Given the description of an element on the screen output the (x, y) to click on. 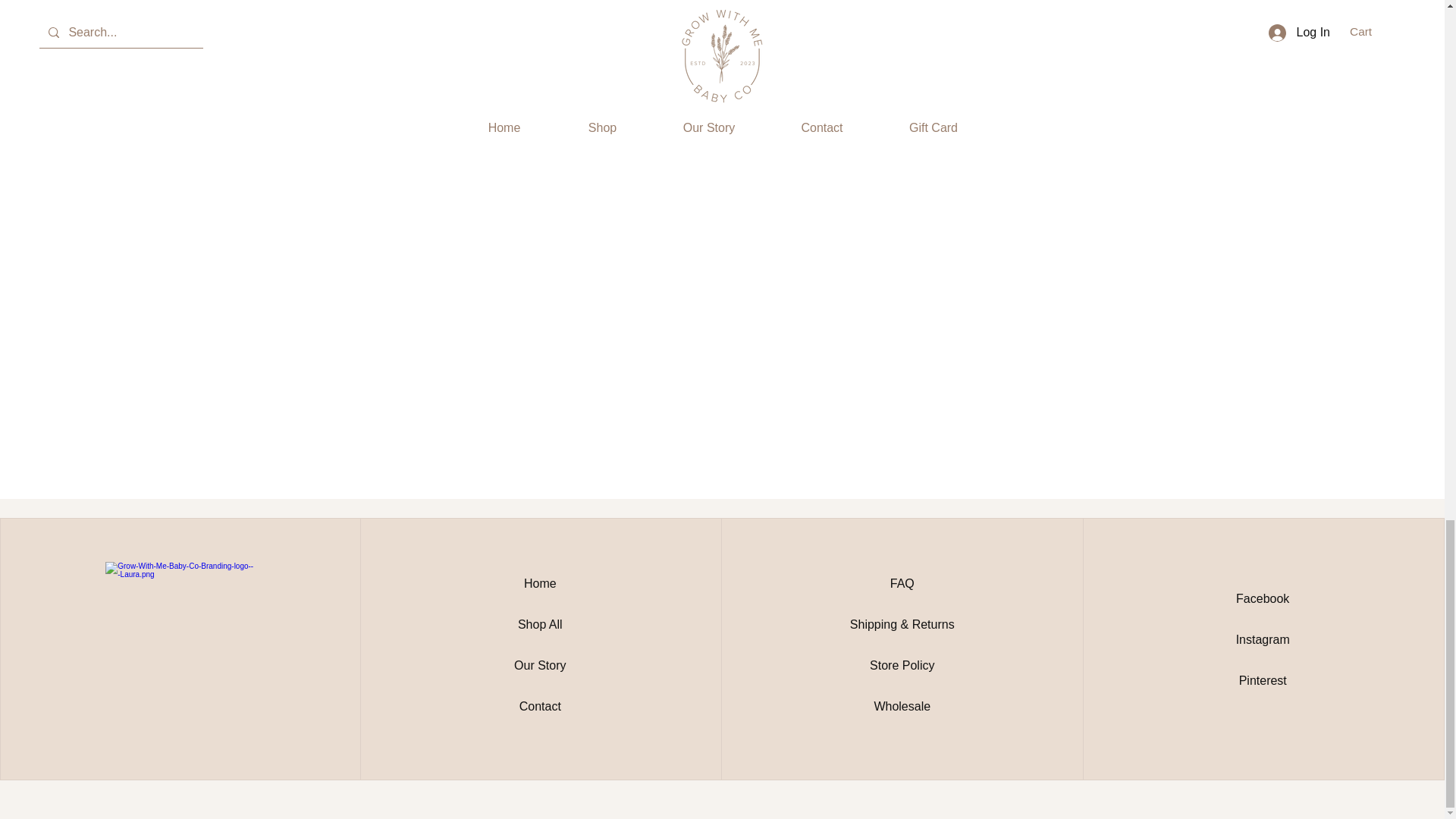
Our Story (539, 665)
FAQ (901, 583)
Wholesale (901, 706)
Home (540, 583)
Contact (539, 706)
Shop All (540, 624)
Store Policy (901, 665)
